Given the description of an element on the screen output the (x, y) to click on. 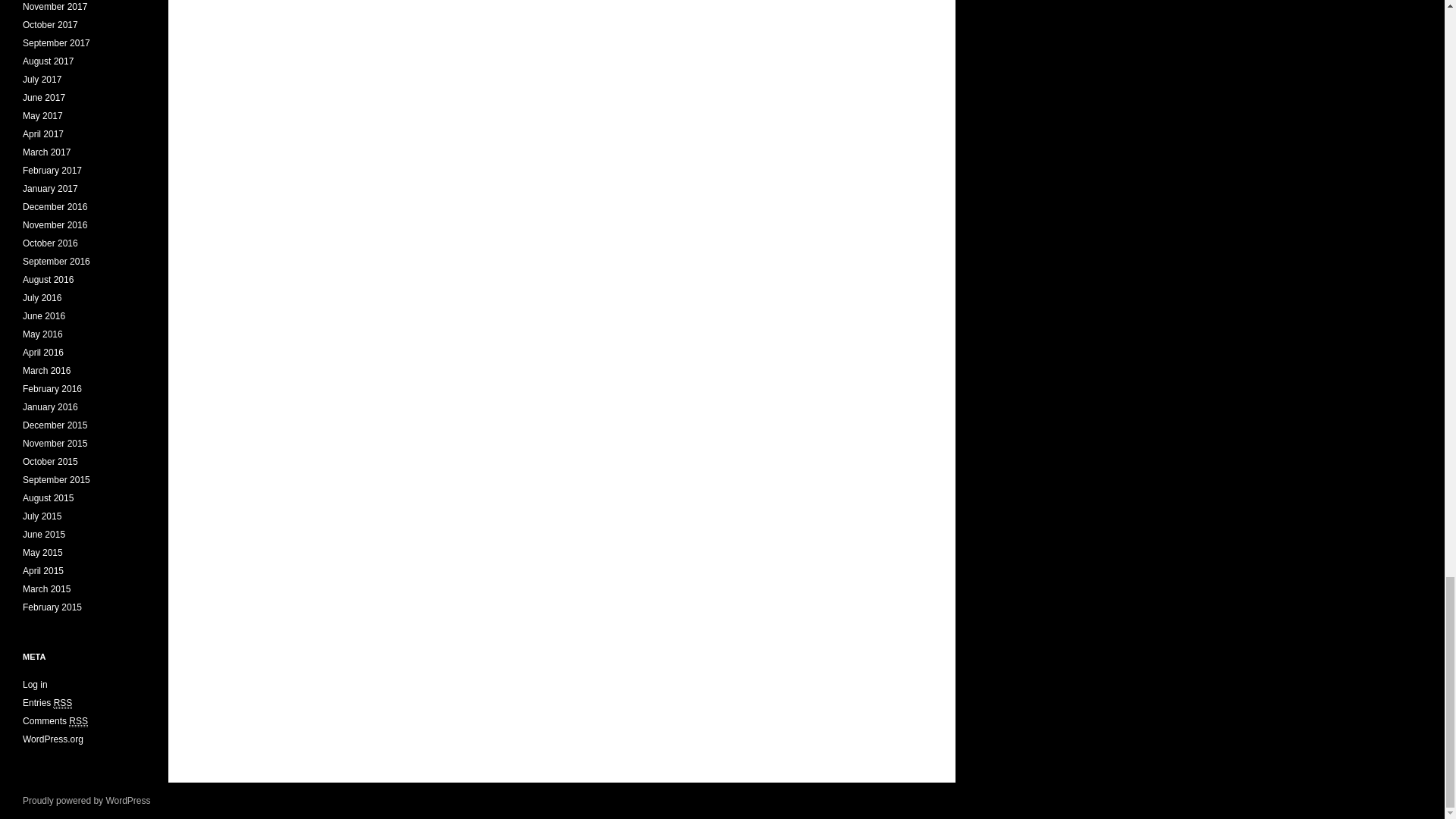
Really Simple Syndication (62, 703)
Really Simple Syndication (77, 721)
